Given the description of an element on the screen output the (x, y) to click on. 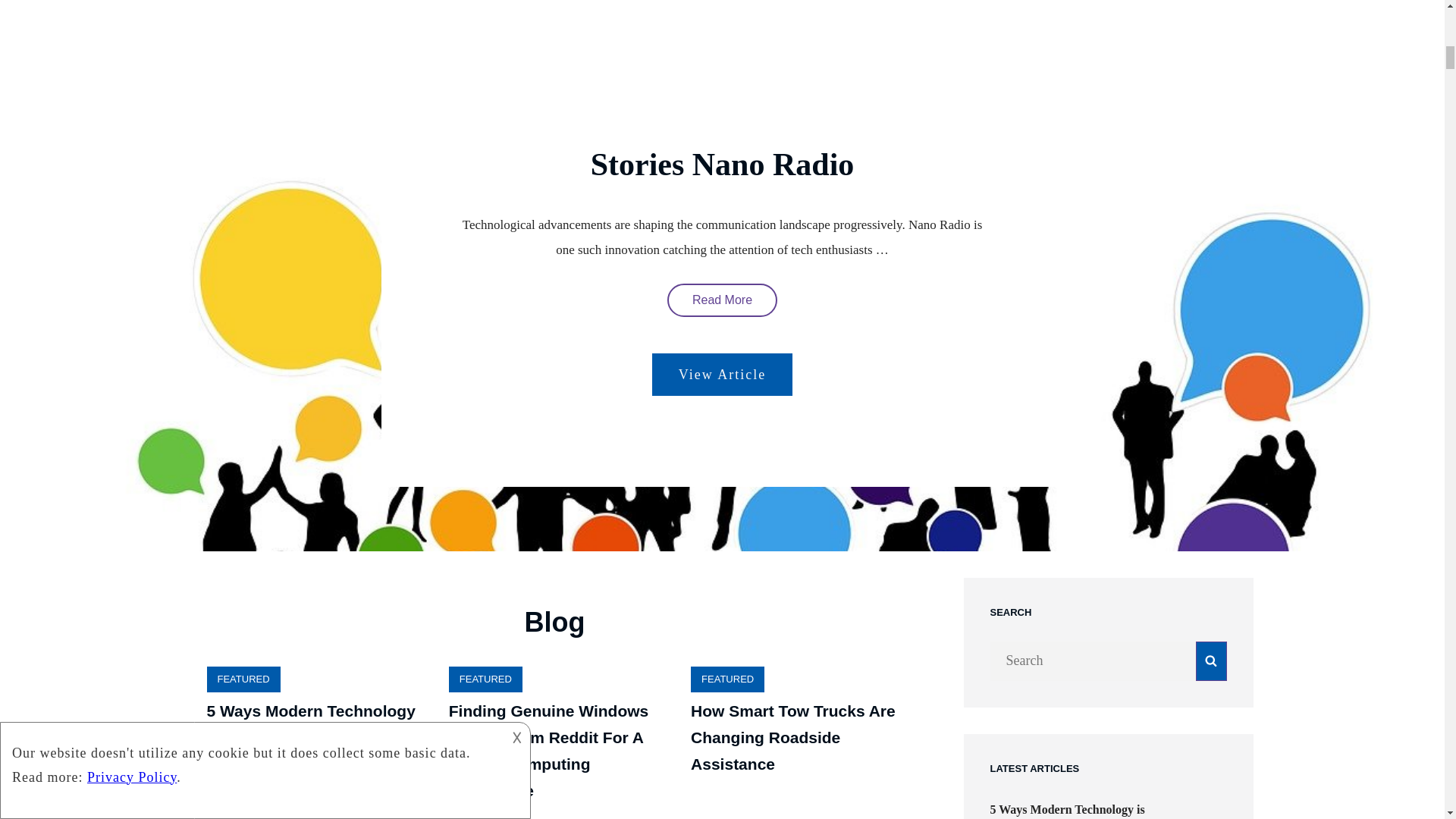
5 Ways Modern Technology Is Revolutionizing KYC Verification (721, 299)
View Article (310, 737)
How Smart Tow Trucks Are Changing Roadside Assistance (722, 373)
